Given the description of an element on the screen output the (x, y) to click on. 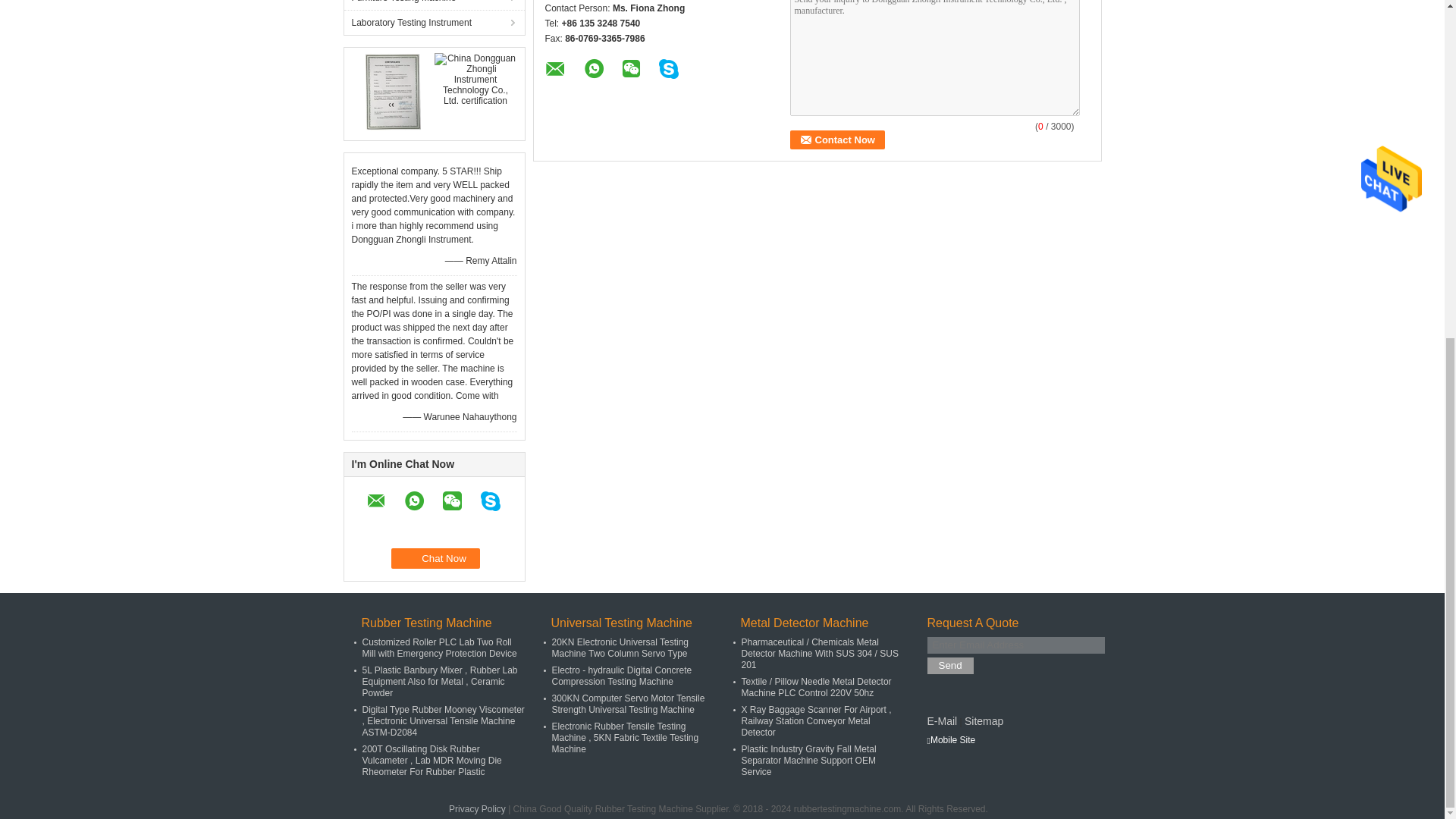
Contact Now (837, 139)
Chat Now (435, 557)
